Given the description of an element on the screen output the (x, y) to click on. 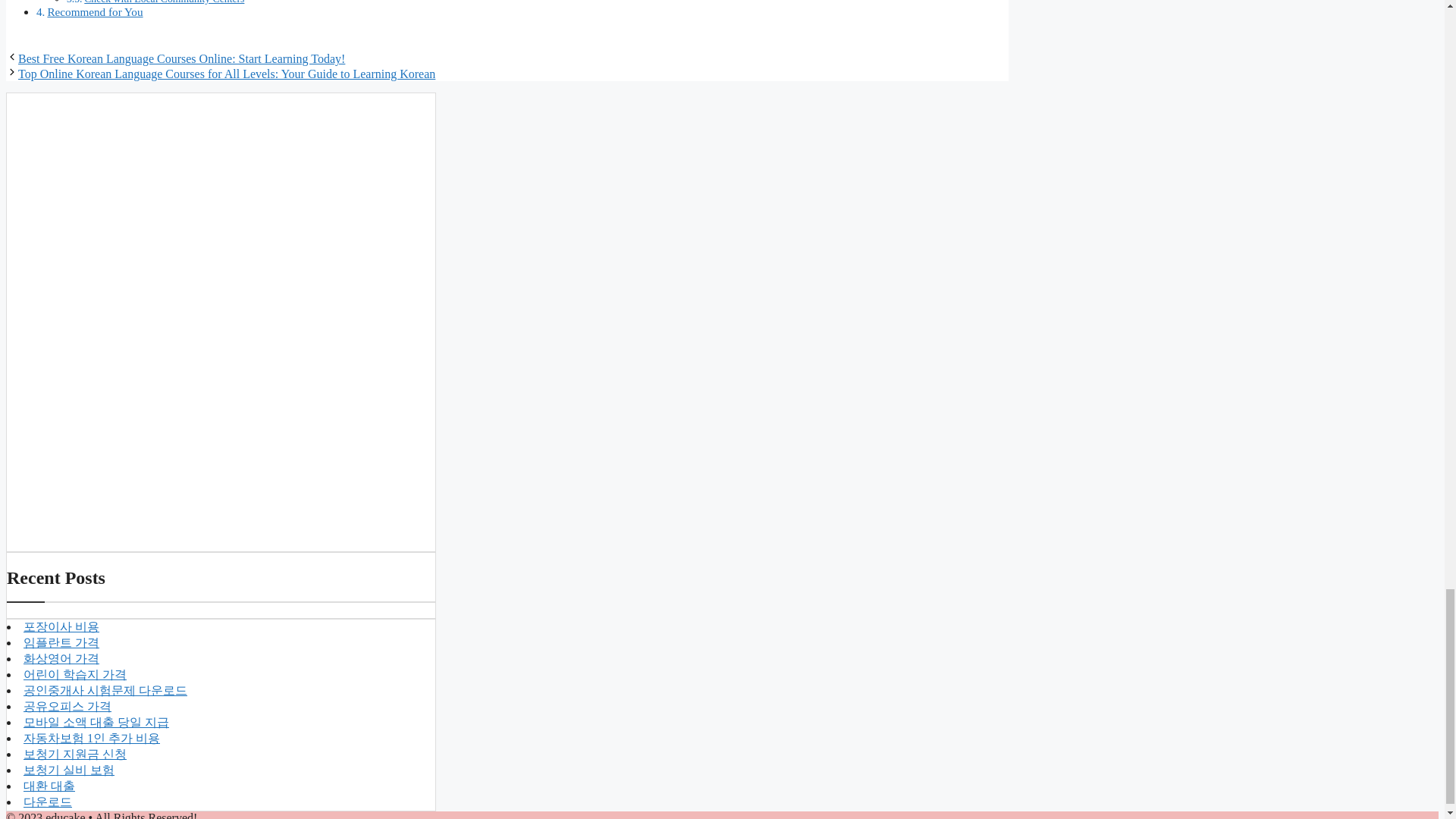
Check with Local Community Centers (164, 2)
Check with Local Community Centers (164, 2)
Recommend for You (94, 11)
Recommend for You (94, 11)
